Given the description of an element on the screen output the (x, y) to click on. 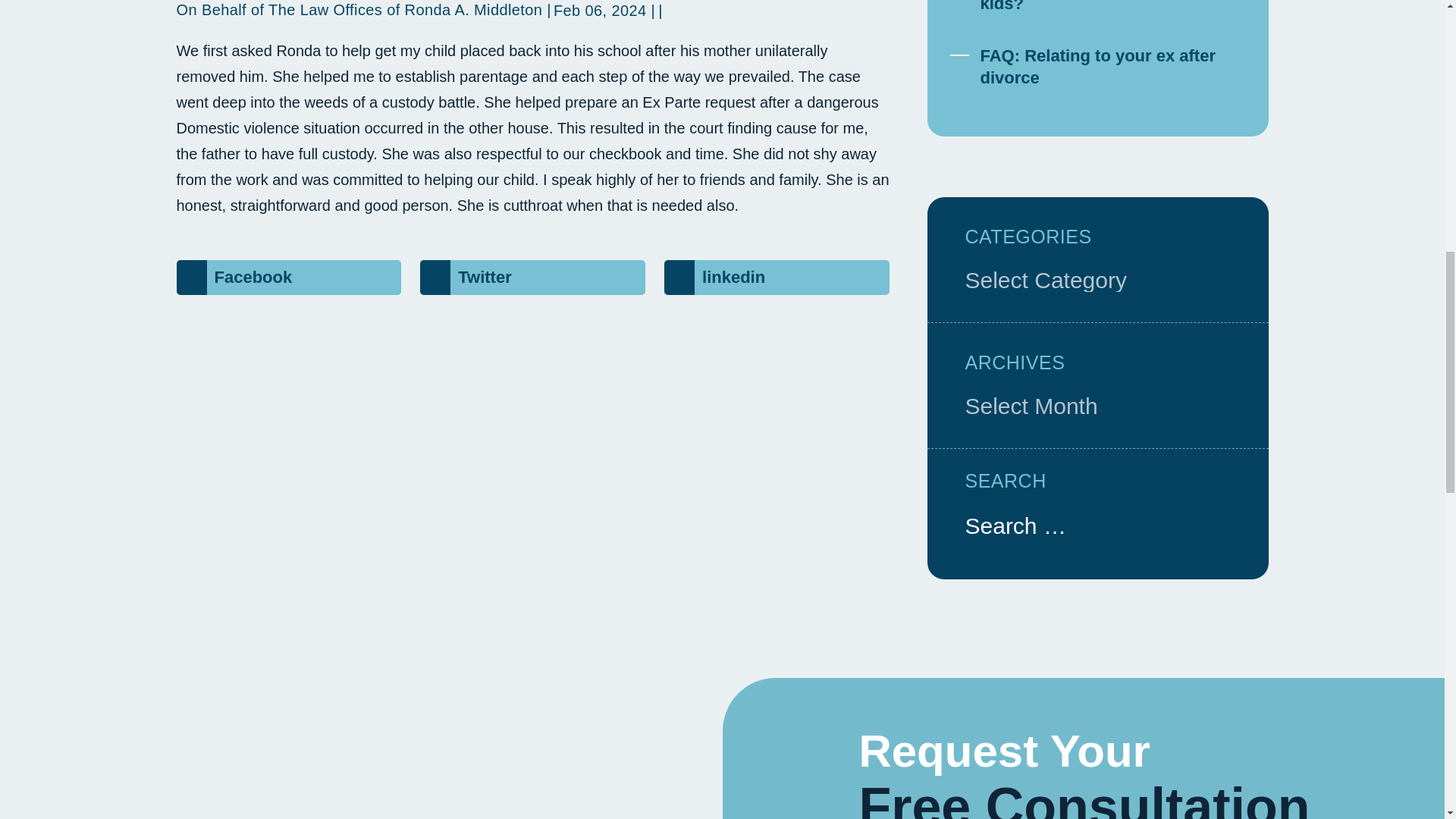
Search (1221, 522)
Search (1221, 522)
